Given the description of an element on the screen output the (x, y) to click on. 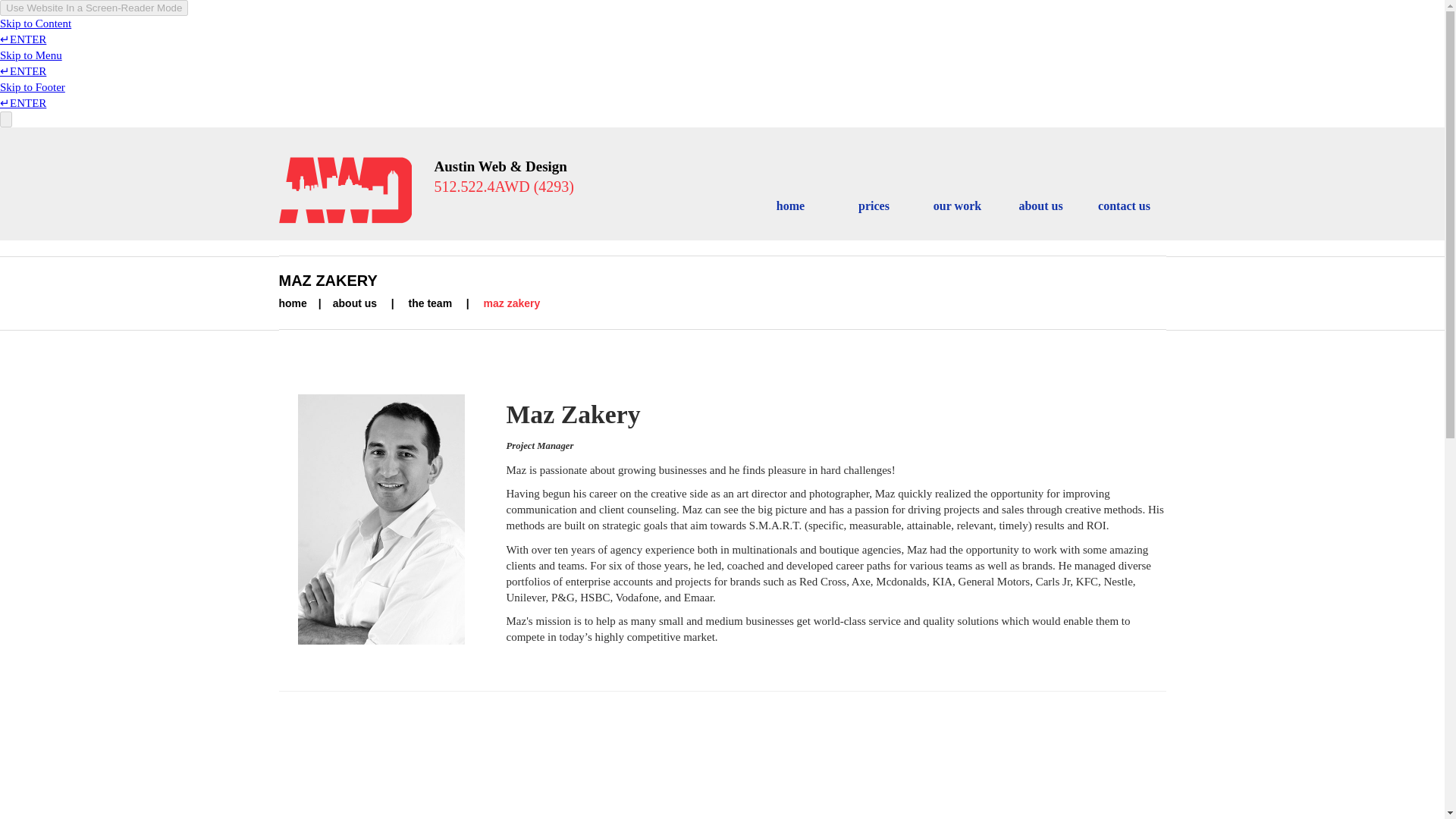
Austin Web Design (345, 188)
about us (355, 303)
the team (430, 303)
home (293, 303)
Call AWD Now (503, 186)
